Given the description of an element on the screen output the (x, y) to click on. 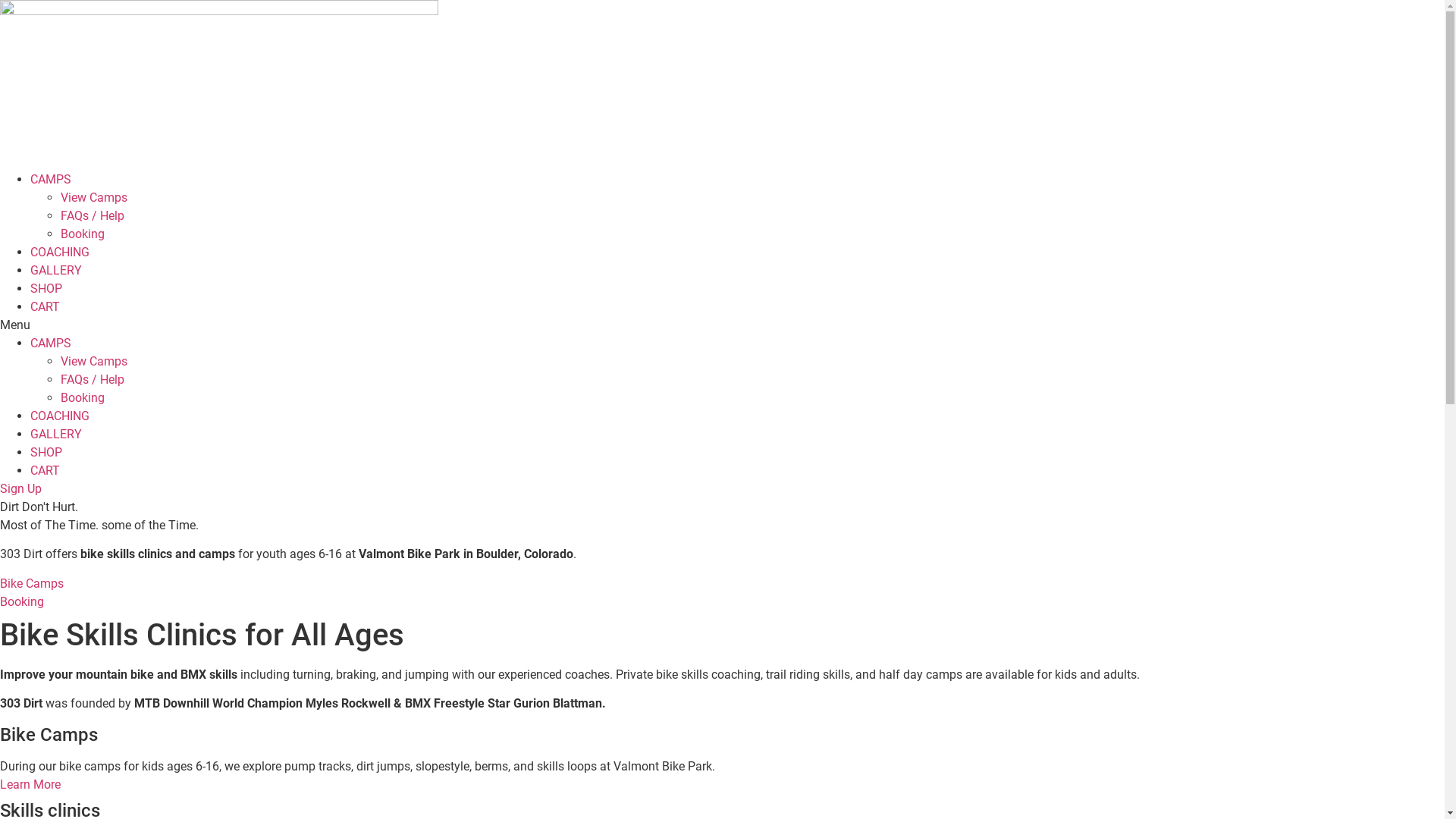
GALLERY Element type: text (55, 270)
Booking Element type: text (82, 397)
CART Element type: text (44, 306)
View Camps Element type: text (93, 361)
CAMPS Element type: text (50, 342)
Bike Camps Element type: text (31, 583)
COACHING Element type: text (59, 251)
Sign Up Element type: text (20, 488)
FAQs / Help Element type: text (92, 379)
GALLERY Element type: text (55, 433)
Booking Element type: text (82, 233)
COACHING Element type: text (59, 415)
CART Element type: text (44, 470)
SHOP Element type: text (46, 288)
View Camps Element type: text (93, 197)
SHOP Element type: text (46, 452)
Learn More Element type: text (30, 784)
CAMPS Element type: text (50, 179)
Booking Element type: text (21, 601)
FAQs / Help Element type: text (92, 215)
